Given the description of an element on the screen output the (x, y) to click on. 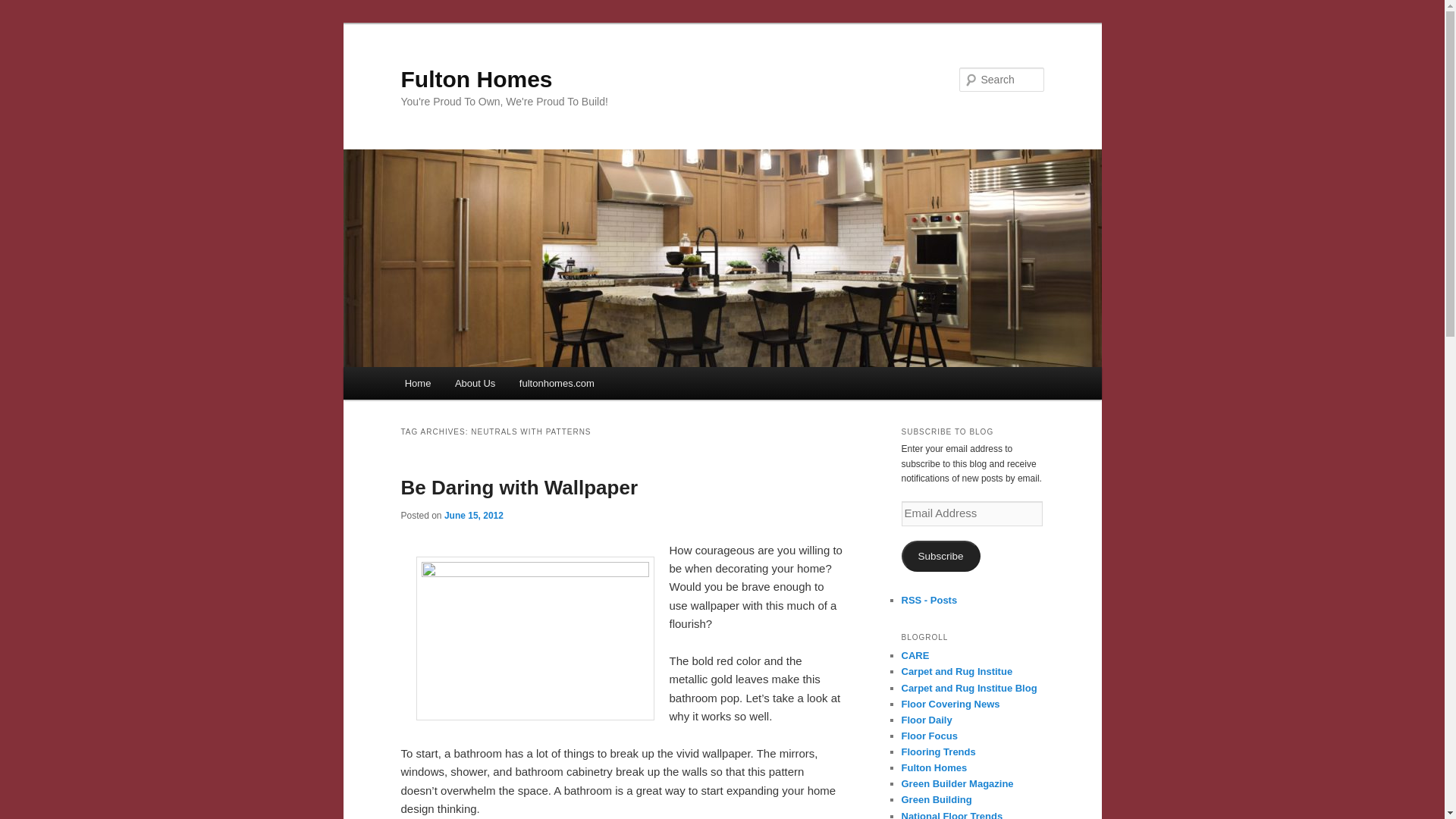
Carpet and Rug Institue Blog (968, 687)
Floor Focus (928, 736)
12:56 pm (473, 515)
Be Daring with Wallpaper (518, 486)
Search (24, 8)
RSS - Posts (928, 600)
Subscribe to posts (928, 600)
Fulton Homes (475, 78)
Floor Covering News (949, 704)
Floor Daily (926, 719)
Screen Shot 2012-11-27 at 9.51.19 AM (533, 638)
Subscribe (940, 555)
Flooring Trends (938, 751)
Home (417, 382)
